Given the description of an element on the screen output the (x, y) to click on. 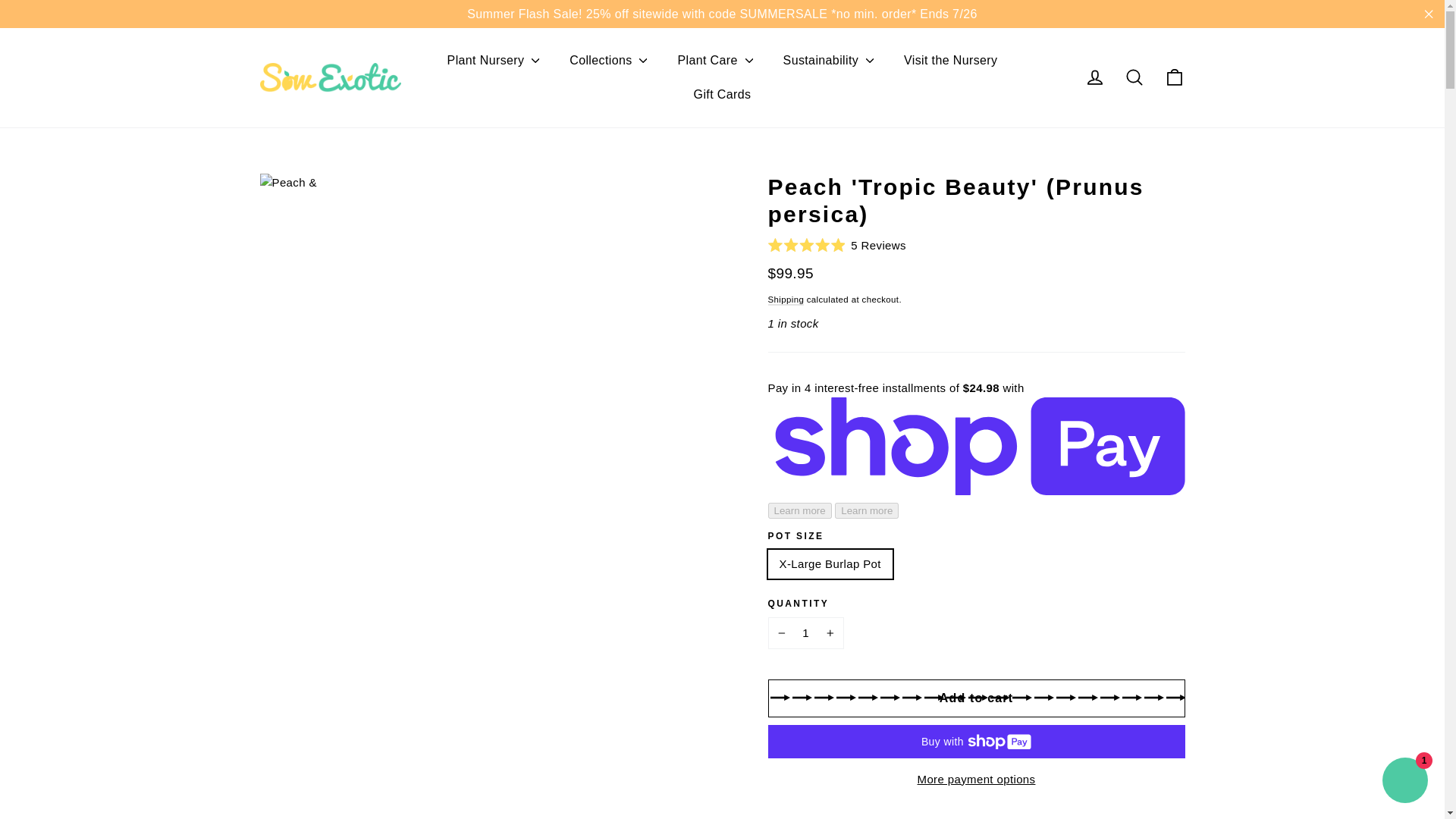
Shopify online store chat (1404, 781)
1 (805, 633)
Plant Nursery (493, 60)
